Given the description of an element on the screen output the (x, y) to click on. 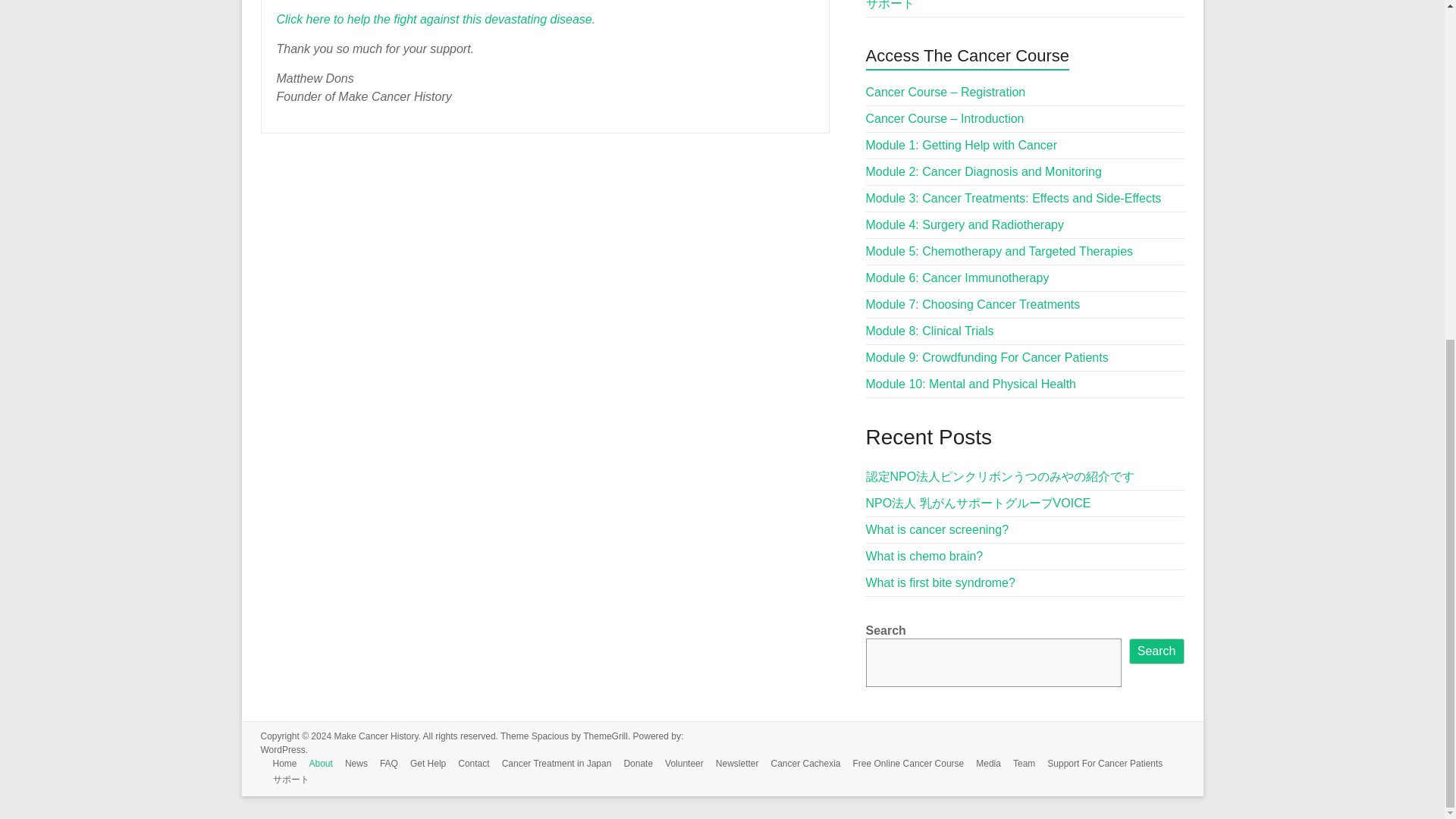
Module 7: Choosing Cancer Treatments (973, 304)
Module 4: Surgery and Radiotherapy (965, 224)
Module 5: Chemotherapy and Targeted Therapies (1000, 250)
WordPress (282, 749)
Module 1: Getting Help with Cancer (962, 144)
Module 3: Cancer Treatments: Effects and Side-Effects (1013, 197)
Module 6: Cancer Immunotherapy (957, 277)
Make Cancer History (375, 736)
Spacious (550, 736)
Module 8: Clinical Trials (930, 330)
